Given the description of an element on the screen output the (x, y) to click on. 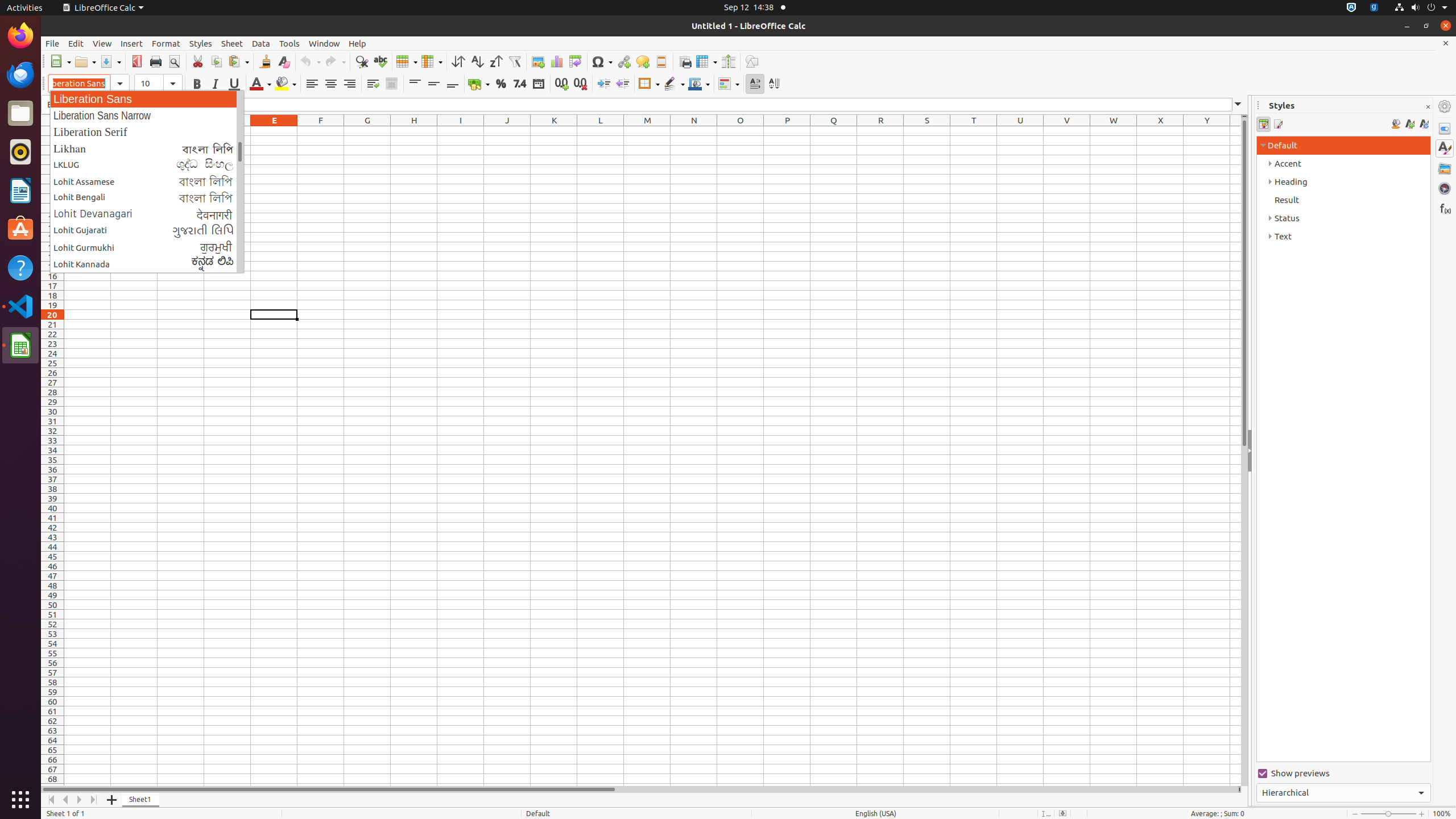
LibreOffice Calc Element type: menu (102, 7)
Likhan Element type: list-item (146, 147)
Lohit Assamese Element type: list-item (146, 180)
H1 Element type: table-cell (413, 130)
Align Left Element type: push-button (311, 83)
